Given the description of an element on the screen output the (x, y) to click on. 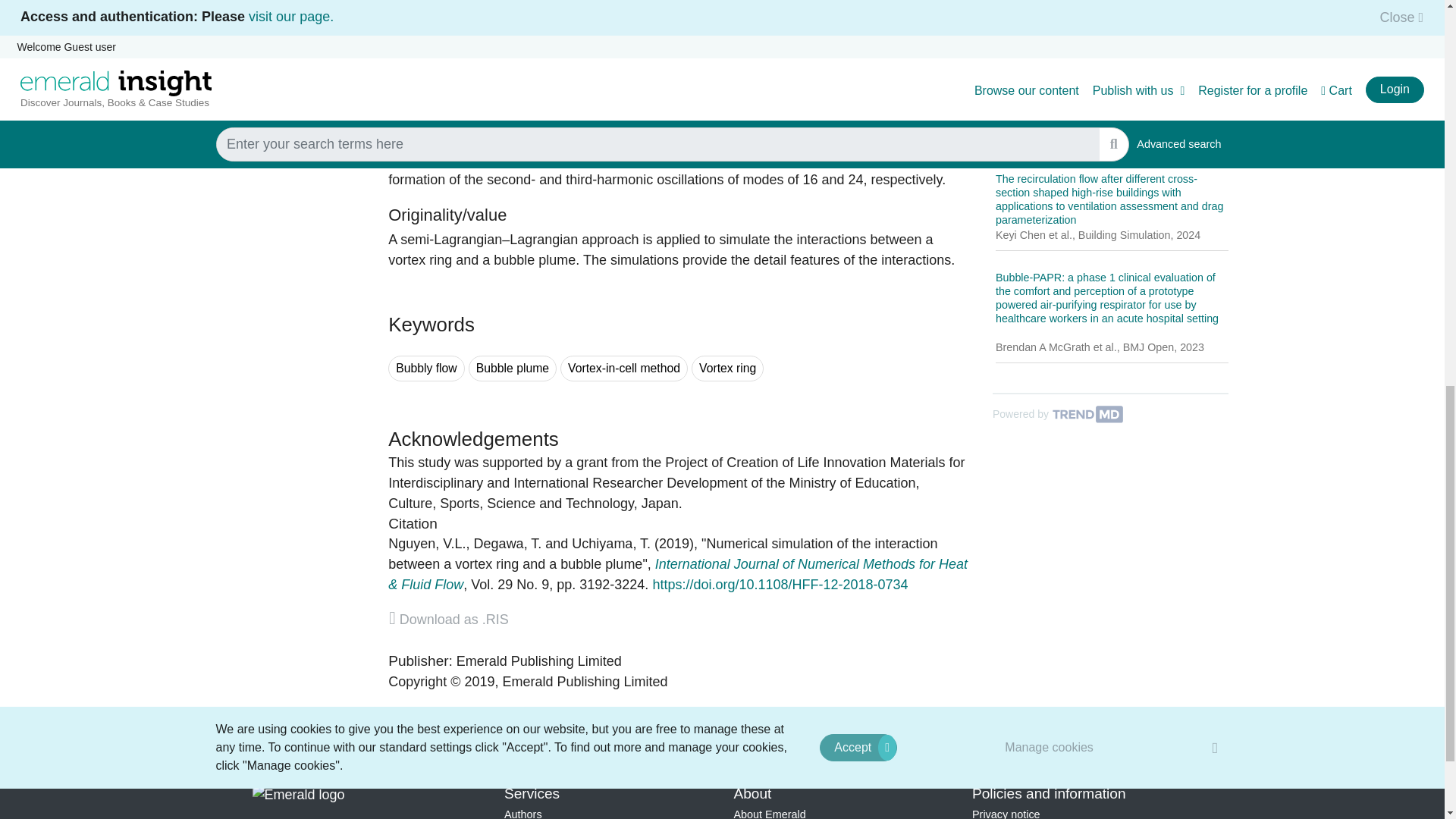
Search for keyword Vortex ring (726, 368)
Search for keyword Bubbly flow (426, 368)
Search for keyword Bubble plume (512, 368)
Search for keyword Vortex-in-cell method (623, 368)
Tomohiro Degawa (507, 543)
Tomomi Uchiyama (611, 543)
Van Luc Nguyen (426, 543)
